Given the description of an element on the screen output the (x, y) to click on. 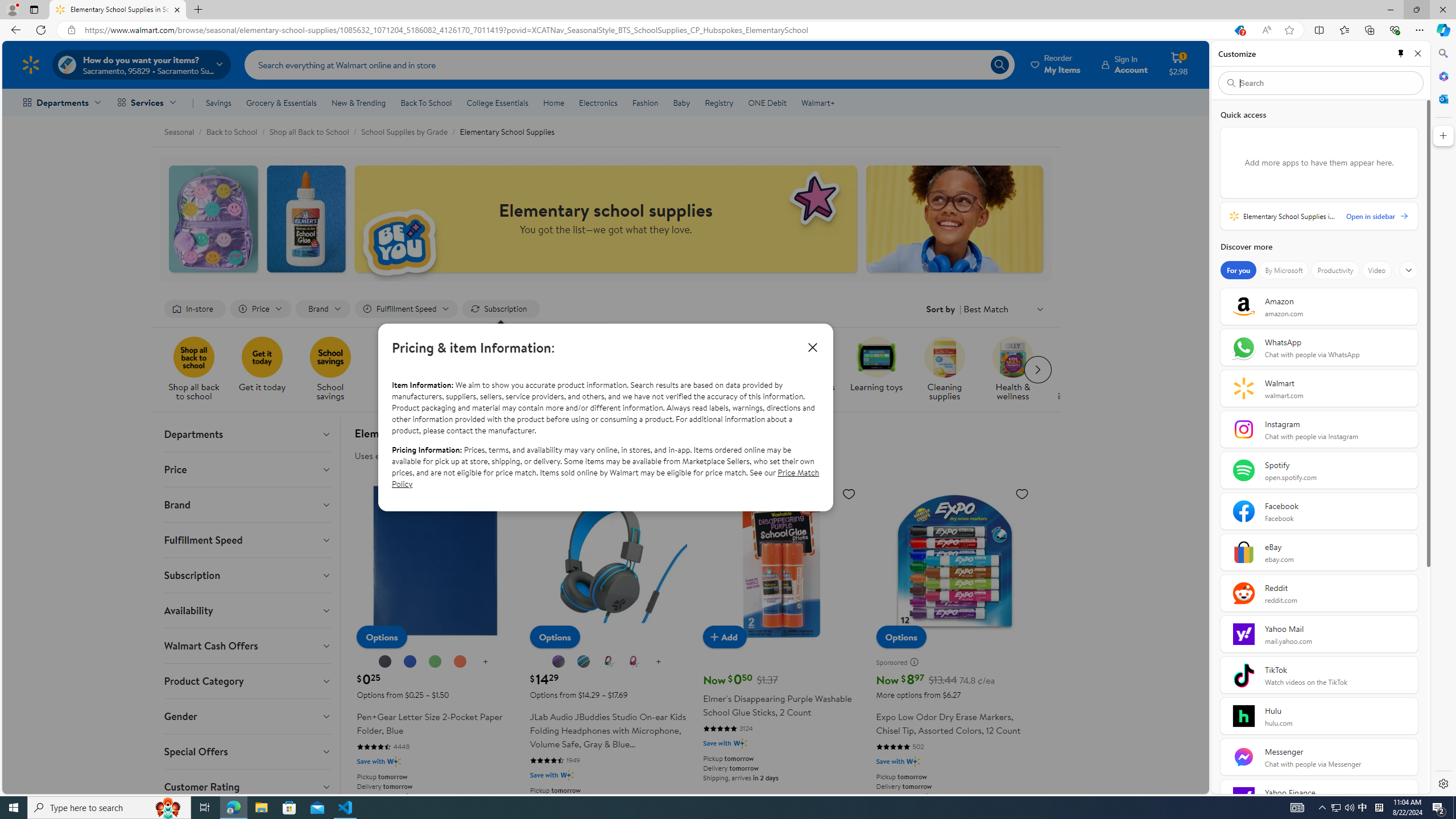
Close dialog (812, 346)
Price Match Policy (605, 477)
For you (1238, 270)
By Microsoft (1282, 270)
